Given the description of an element on the screen output the (x, y) to click on. 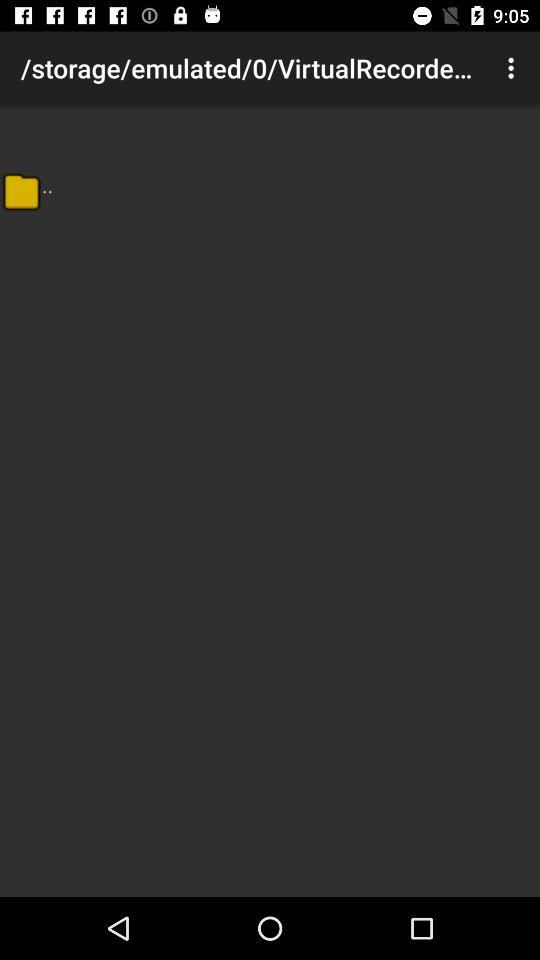
launch icon to the right of storage emulated 0 icon (513, 67)
